Given the description of an element on the screen output the (x, y) to click on. 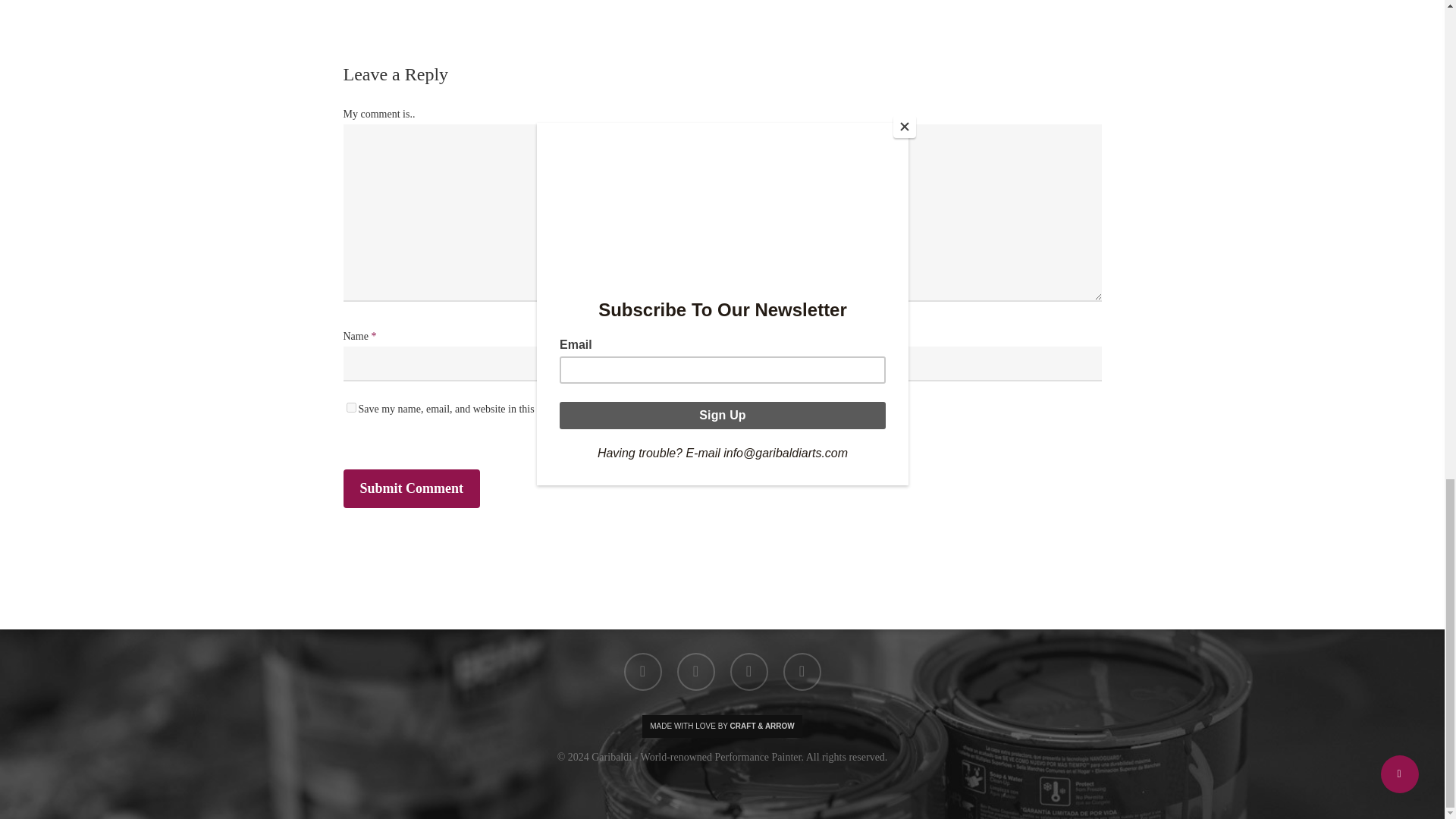
Submit Comment (411, 488)
yes (350, 407)
Submit Comment (411, 488)
